Given the description of an element on the screen output the (x, y) to click on. 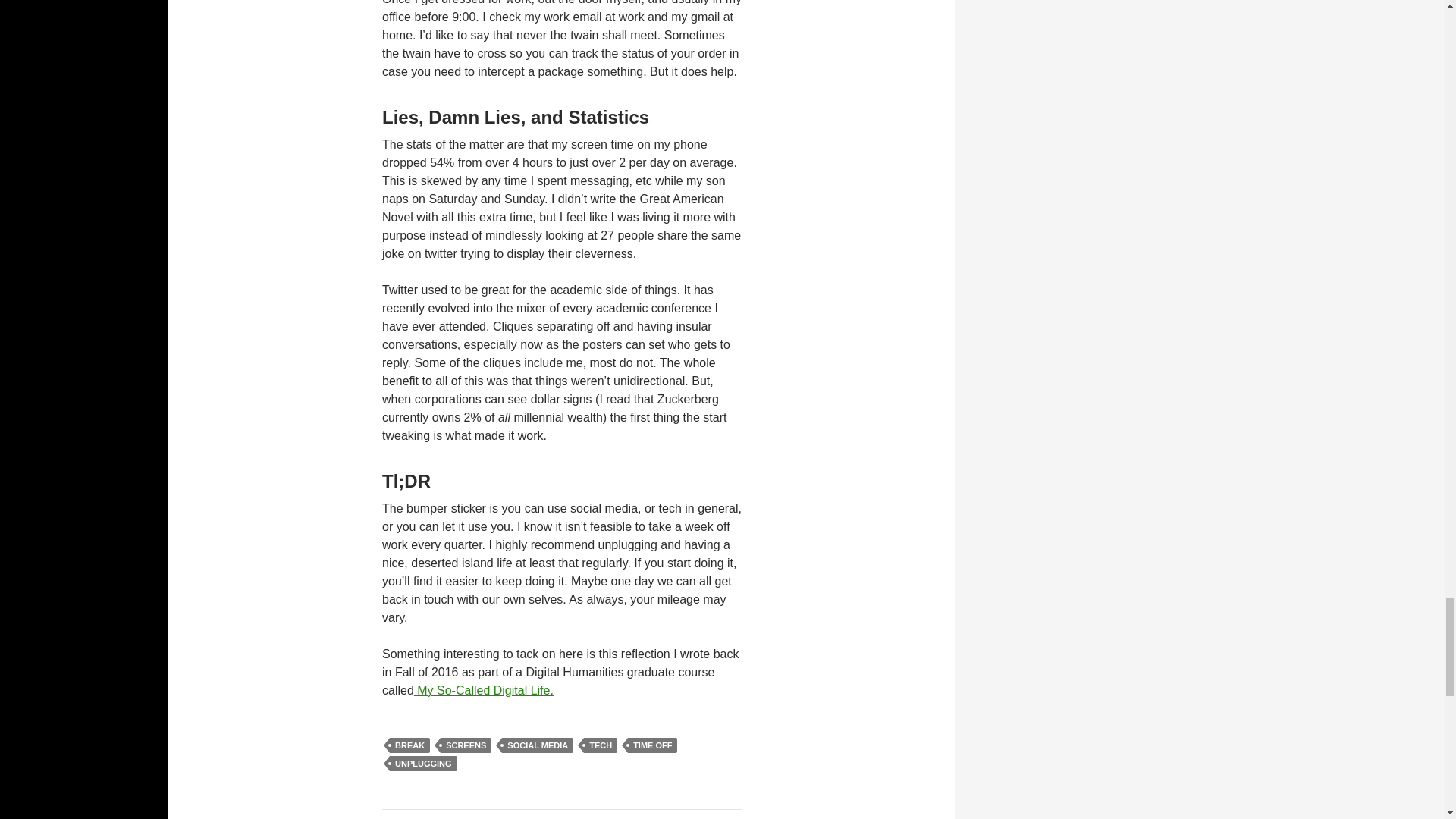
UNPLUGGING (423, 763)
My So-Called Digital Life. (483, 689)
TIME OFF (652, 744)
SOCIAL MEDIA (537, 744)
TECH (600, 744)
BREAK (561, 814)
SCREENS (409, 744)
